Given the description of an element on the screen output the (x, y) to click on. 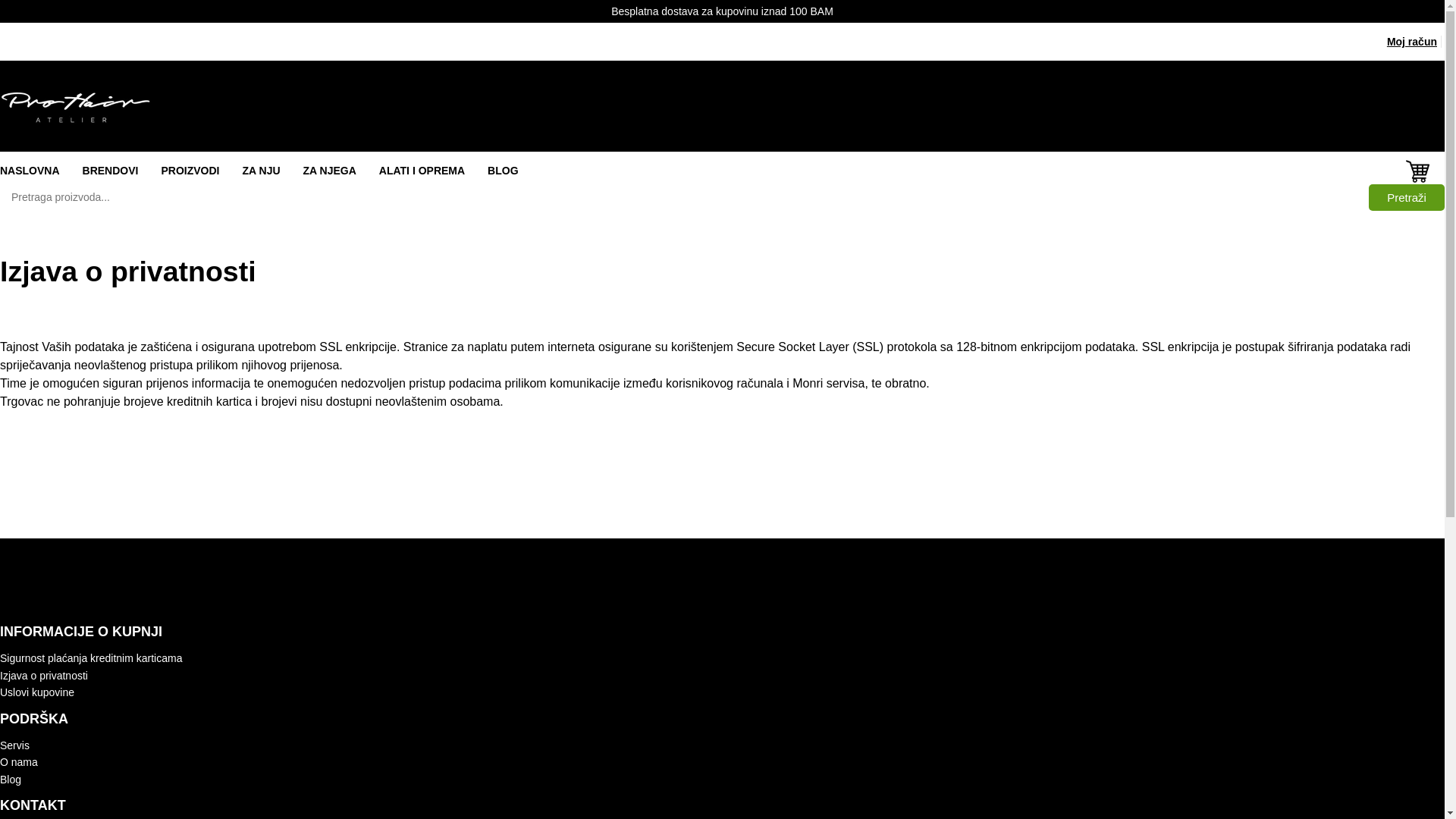
BRENDOVI Element type: text (110, 170)
PROIZVODI Element type: text (189, 170)
BLOG Element type: text (502, 170)
ZA NJEGA Element type: text (329, 170)
Blog Element type: text (10, 779)
Izjava o privatnosti Element type: text (43, 674)
Uslovi kupovine Element type: text (37, 692)
ALATI I OPREMA Element type: text (421, 170)
Servis Element type: text (14, 744)
O nama Element type: text (18, 762)
NASLOVNA Element type: text (29, 170)
ZA NJU Element type: text (260, 170)
